Given the description of an element on the screen output the (x, y) to click on. 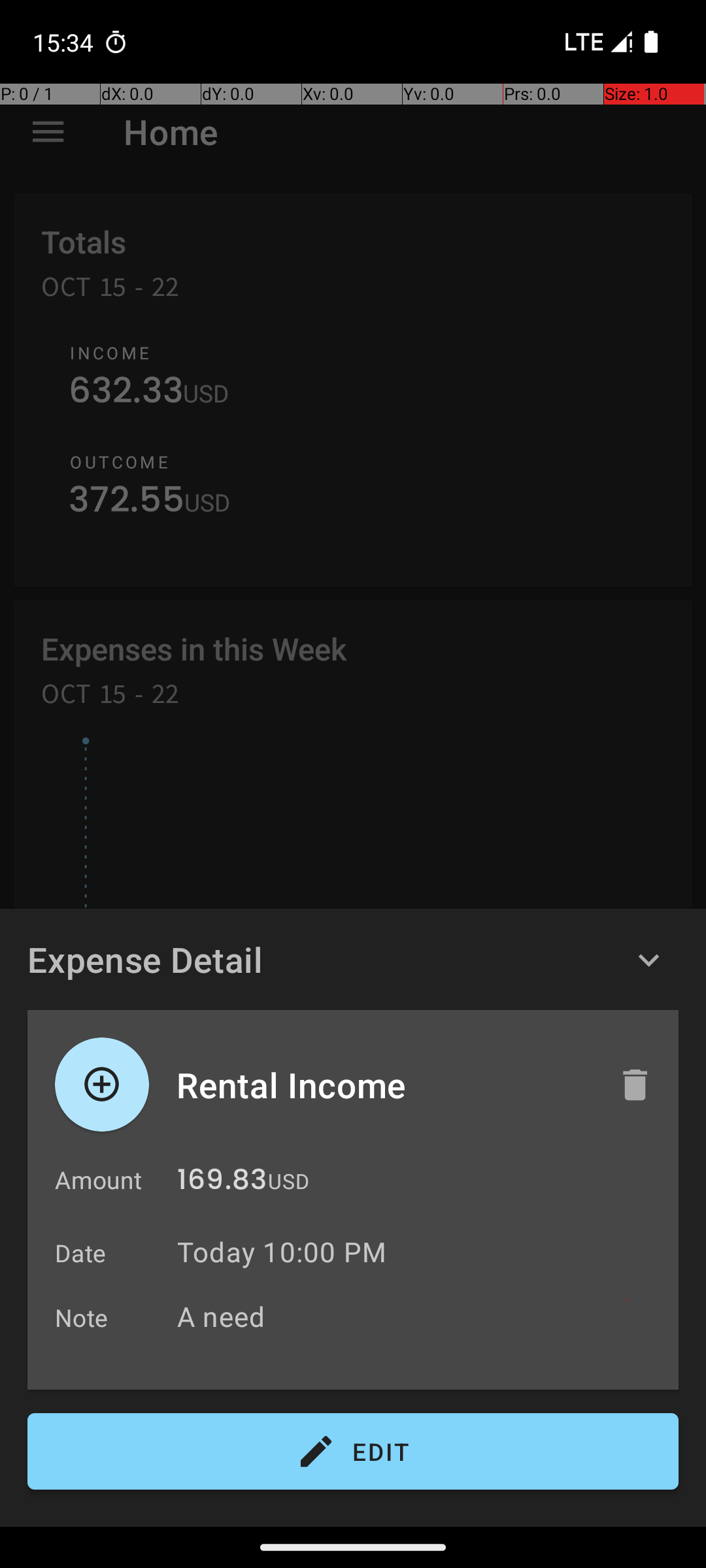
Rental Income Element type: android.widget.TextView (383, 1084)
169.83 Element type: android.widget.TextView (221, 1182)
Today 10:00 PM Element type: android.widget.TextView (281, 1251)
